Given the description of an element on the screen output the (x, y) to click on. 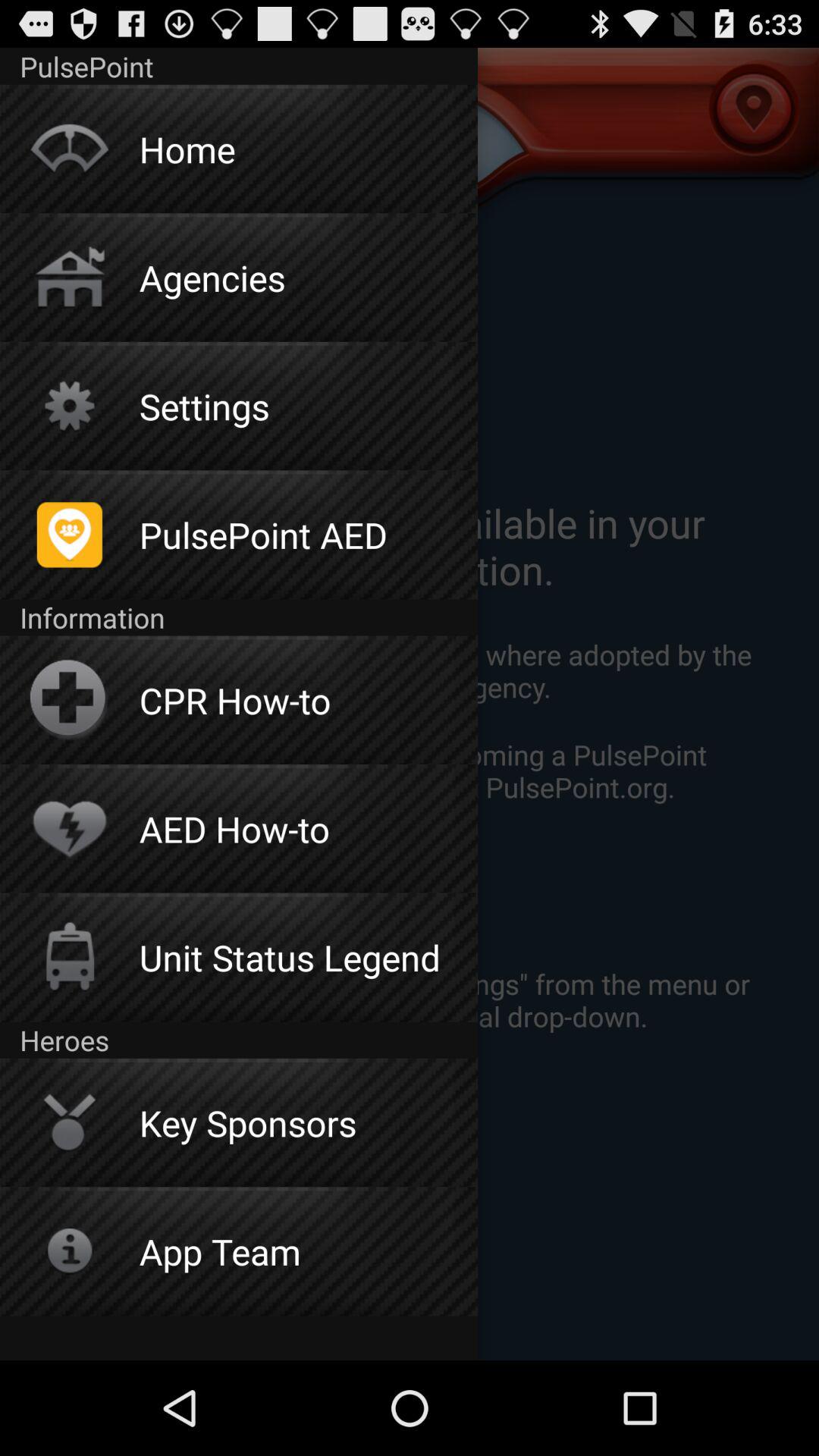
click on gps (742, 138)
